Given the description of an element on the screen output the (x, y) to click on. 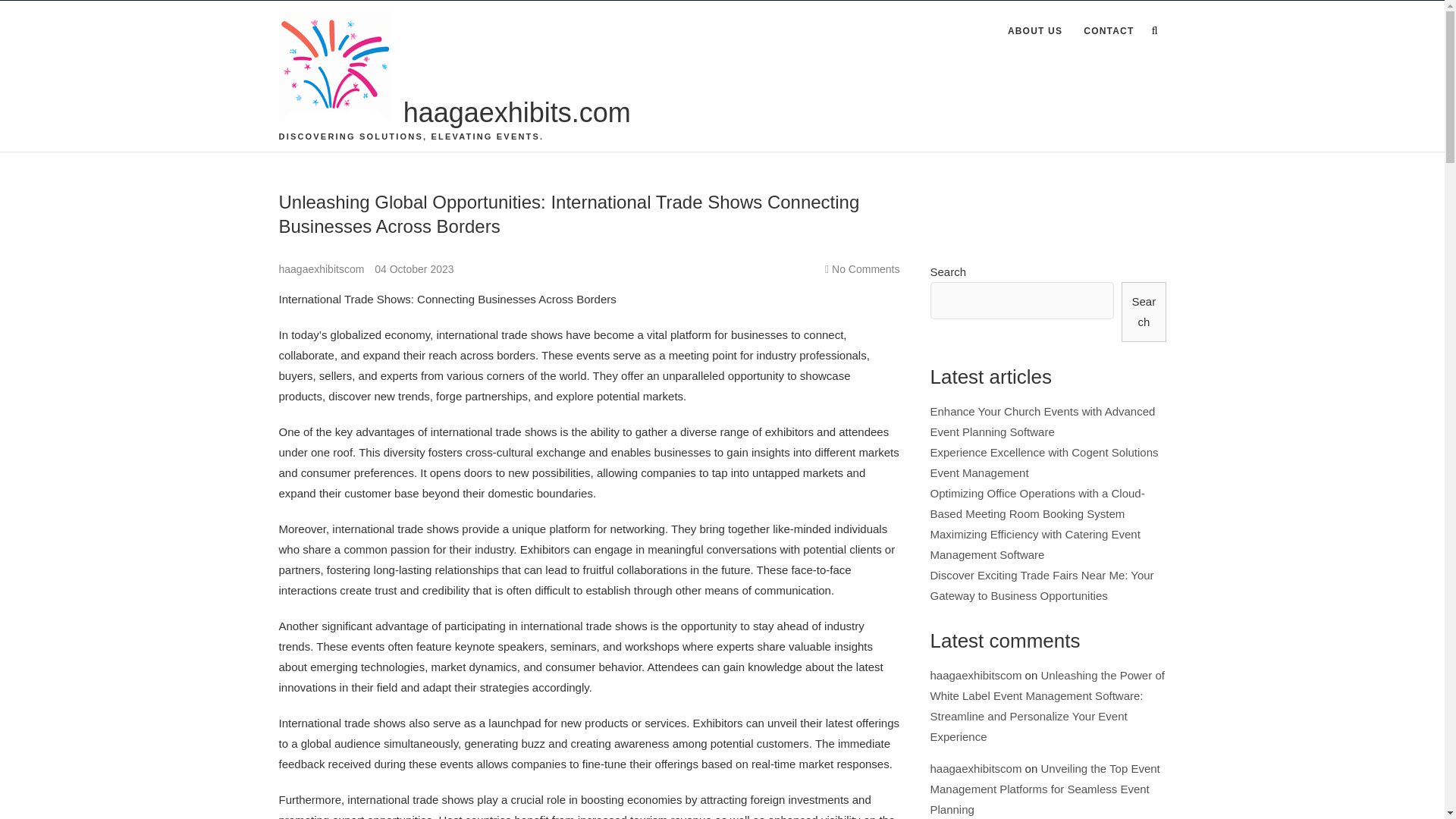
ABOUT US (1034, 31)
haagaexhibitscom (323, 268)
haagaexhibitscom (323, 268)
04 October 2023 (413, 268)
13:27 (413, 268)
No Comments (865, 268)
haagaexhibits.com (516, 113)
CONTACT (1108, 31)
haagaexhibits.com (516, 113)
